Given the description of an element on the screen output the (x, y) to click on. 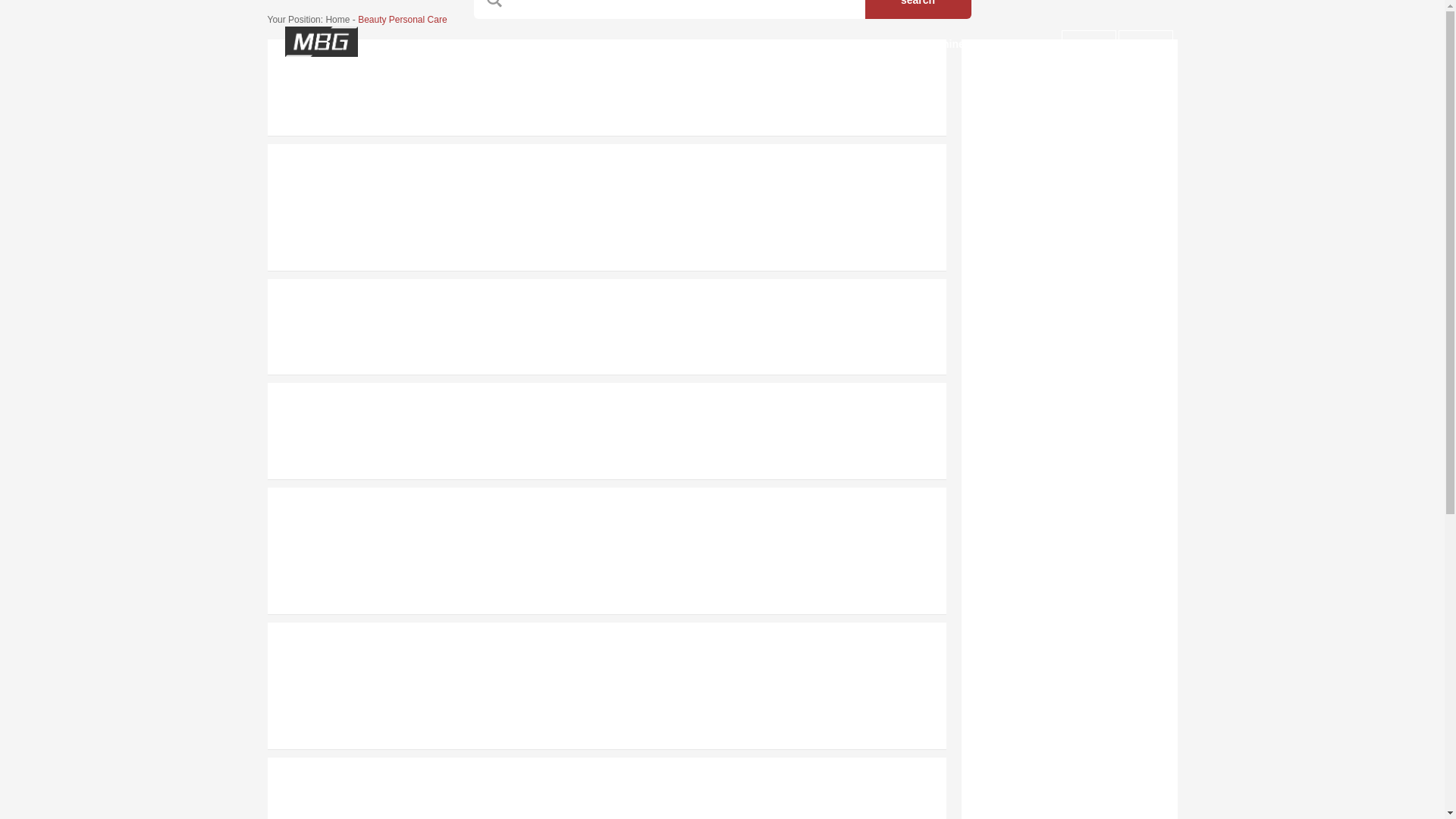
search (917, 9)
Join Us (1088, 43)
Contact Us (638, 43)
search (917, 9)
Home (472, 43)
Machinery (948, 43)
About Us (548, 43)
Contact Us (638, 43)
Join Us (1088, 43)
Home (472, 43)
